Given the description of an element on the screen output the (x, y) to click on. 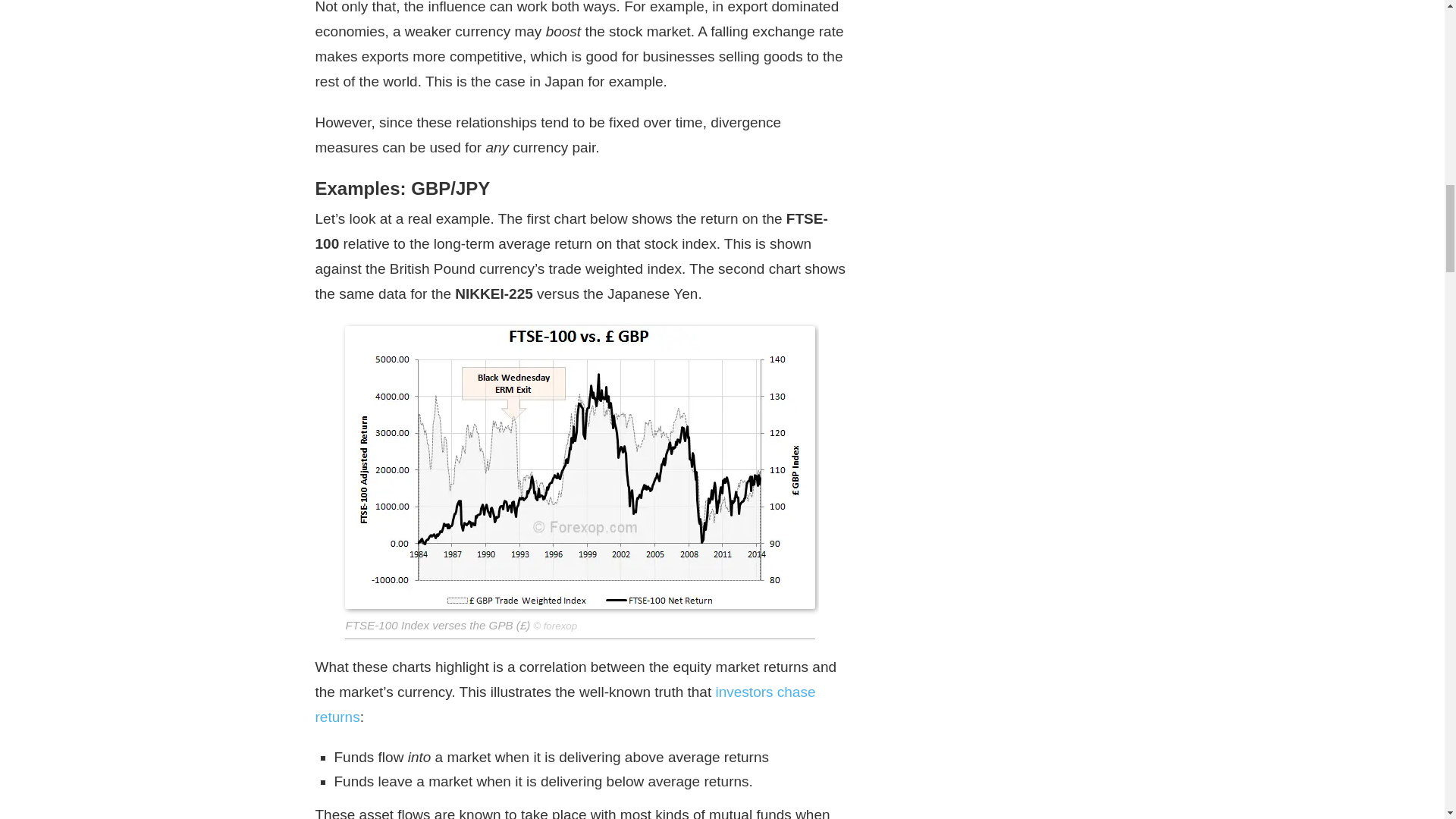
forexop (559, 625)
investors chase returns (565, 703)
